Given the description of an element on the screen output the (x, y) to click on. 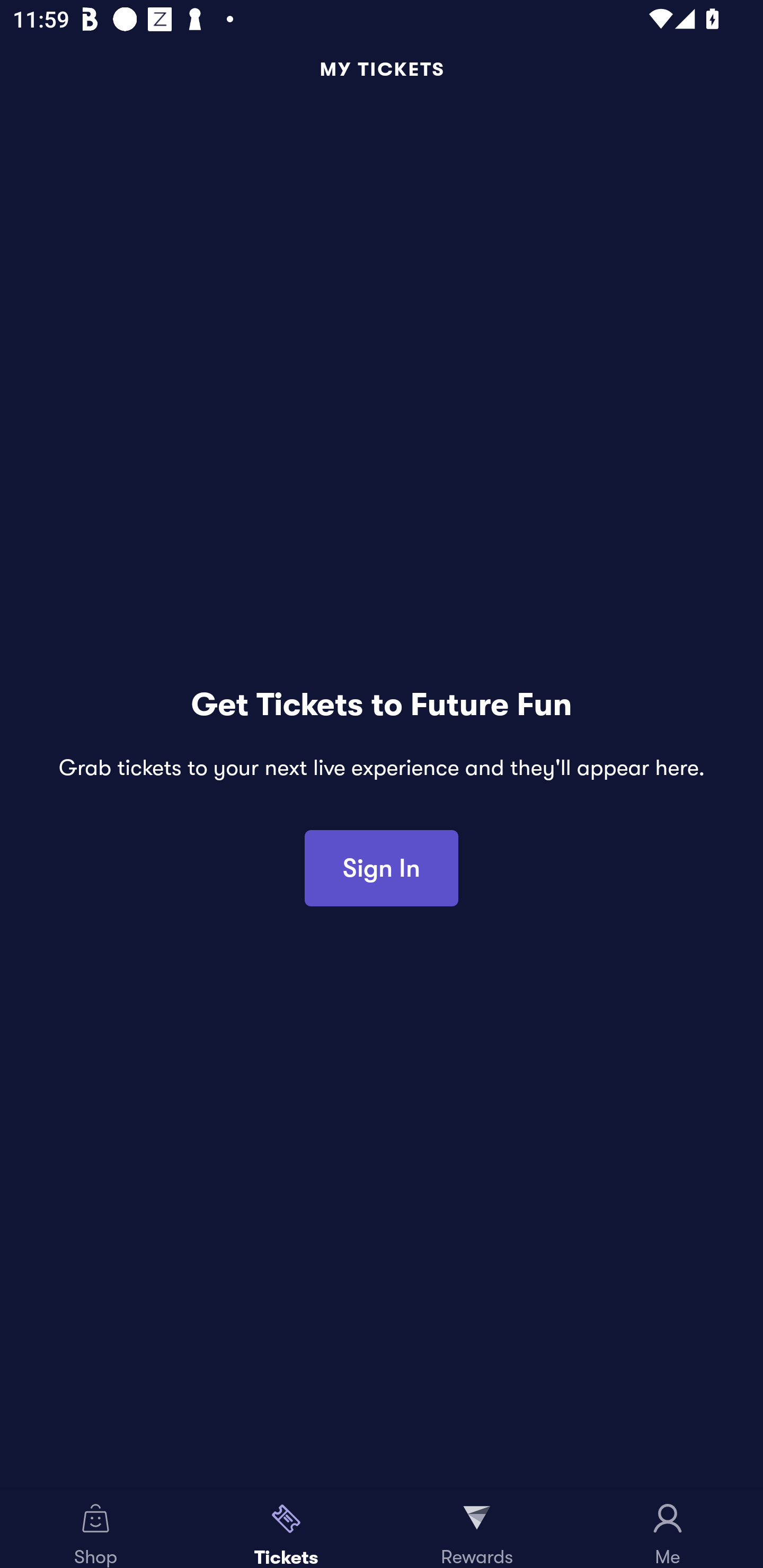
Sign In (381, 867)
Shop (95, 1529)
Tickets (285, 1529)
Rewards (476, 1529)
Me (667, 1529)
